Given the description of an element on the screen output the (x, y) to click on. 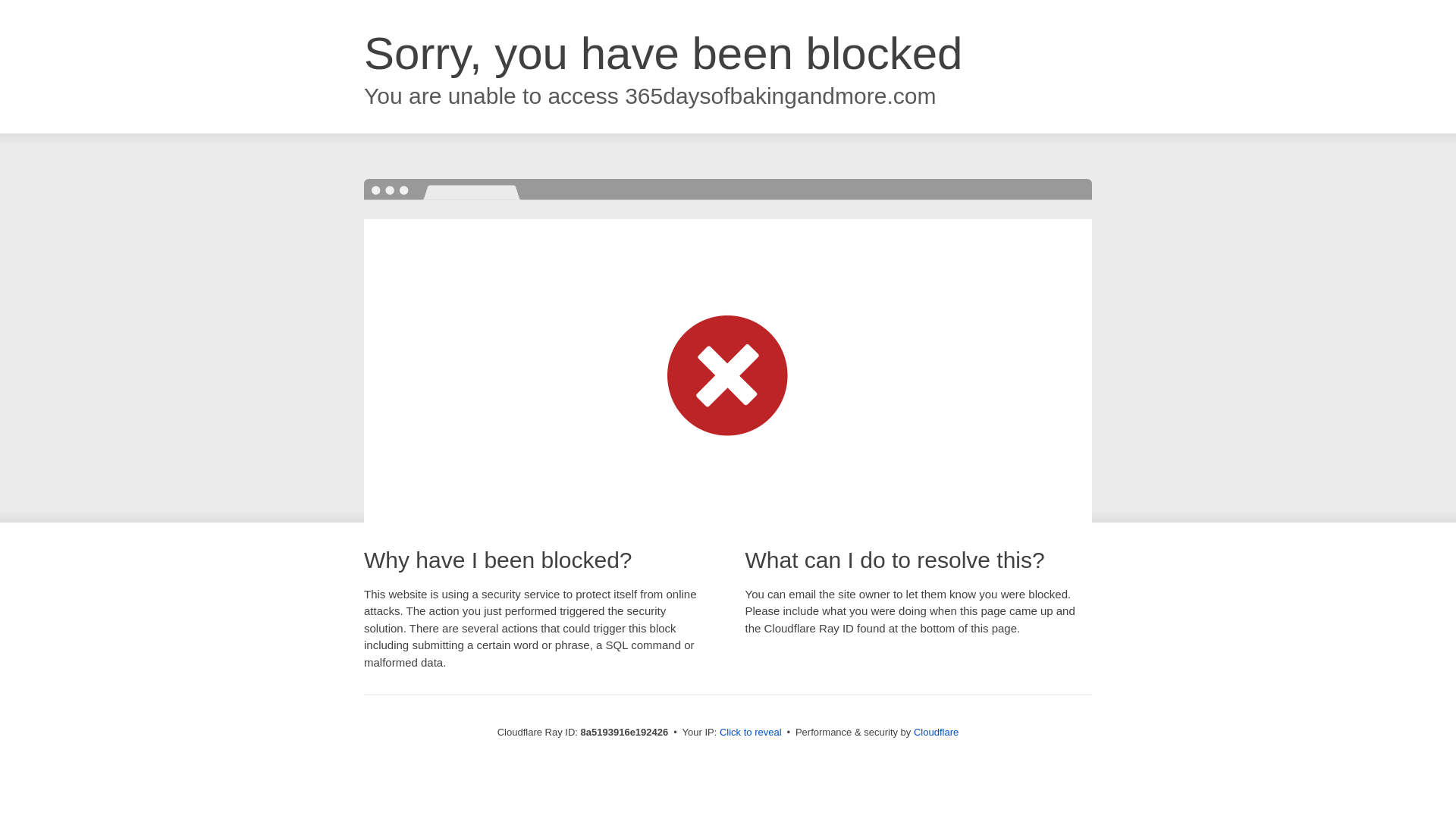
Cloudflare (936, 731)
Click to reveal (750, 732)
